Given the description of an element on the screen output the (x, y) to click on. 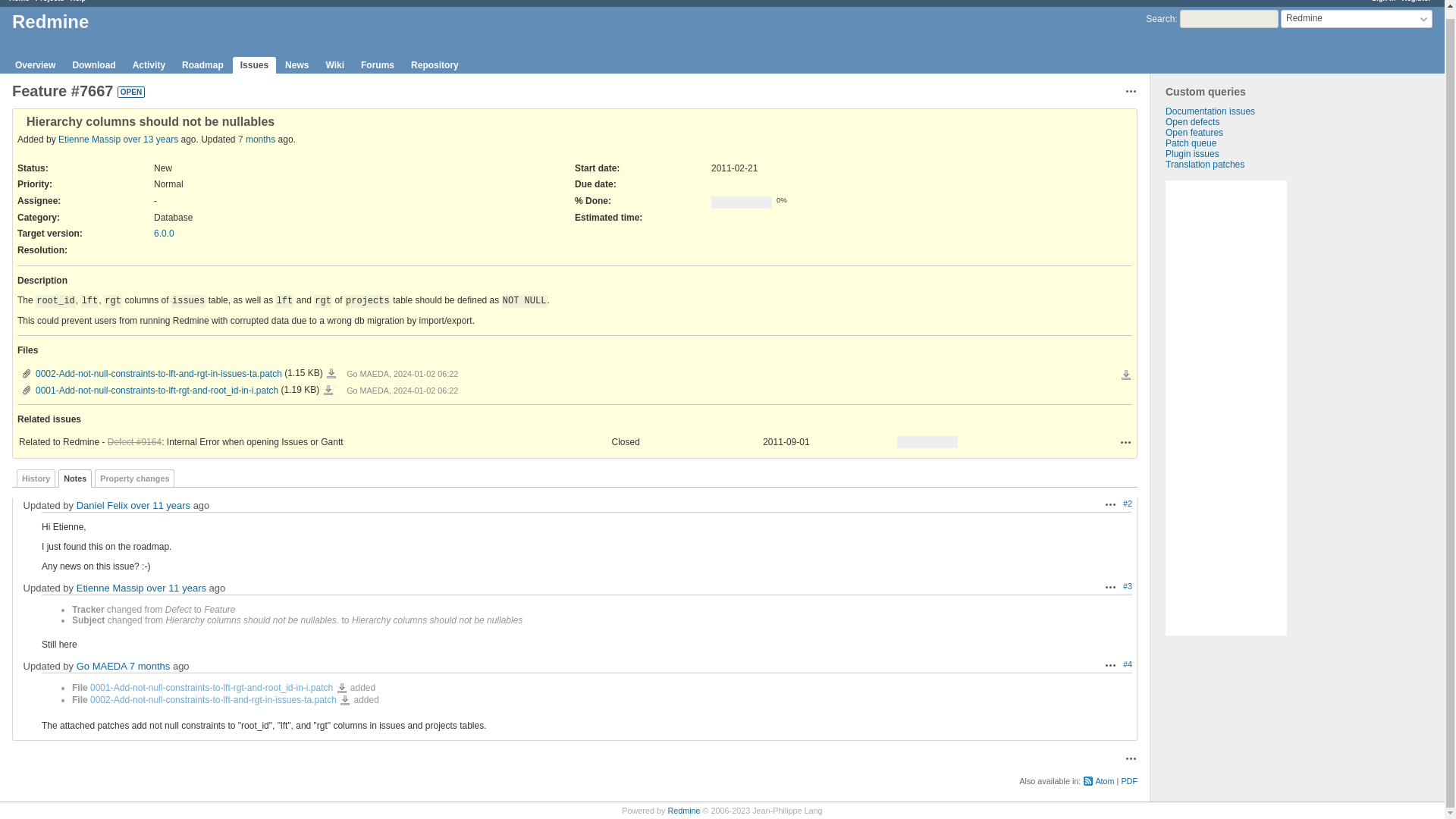
Activity (149, 64)
Repository (434, 64)
Home (18, 1)
Roadmap (202, 64)
Download (330, 373)
Overview (34, 64)
Download (327, 390)
Issues (254, 64)
Open features (1194, 132)
Actions (1110, 586)
Help (77, 1)
Projects (49, 1)
Download all files (1125, 375)
